Given the description of an element on the screen output the (x, y) to click on. 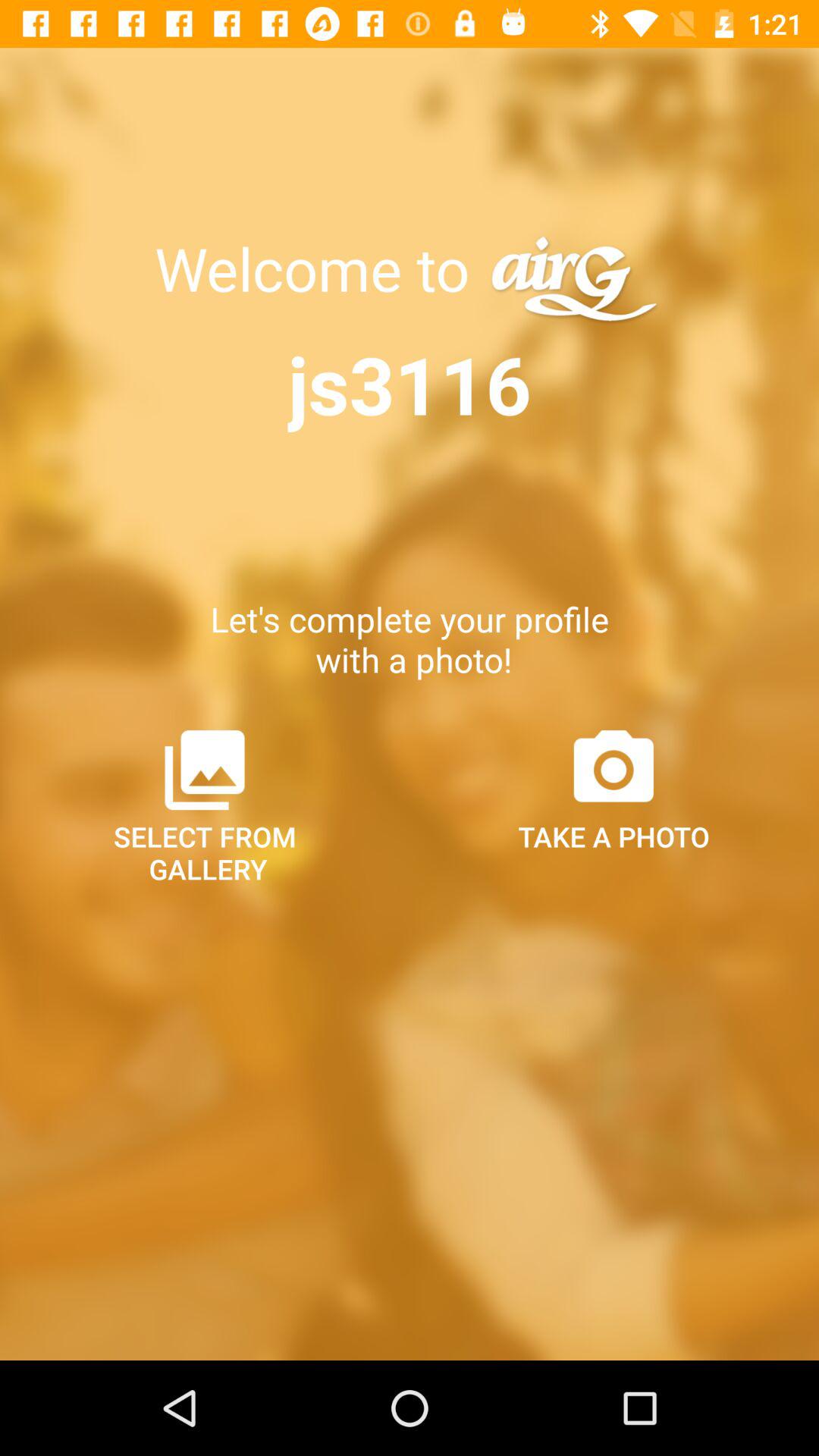
select icon to the left of the take a photo icon (204, 804)
